Given the description of an element on the screen output the (x, y) to click on. 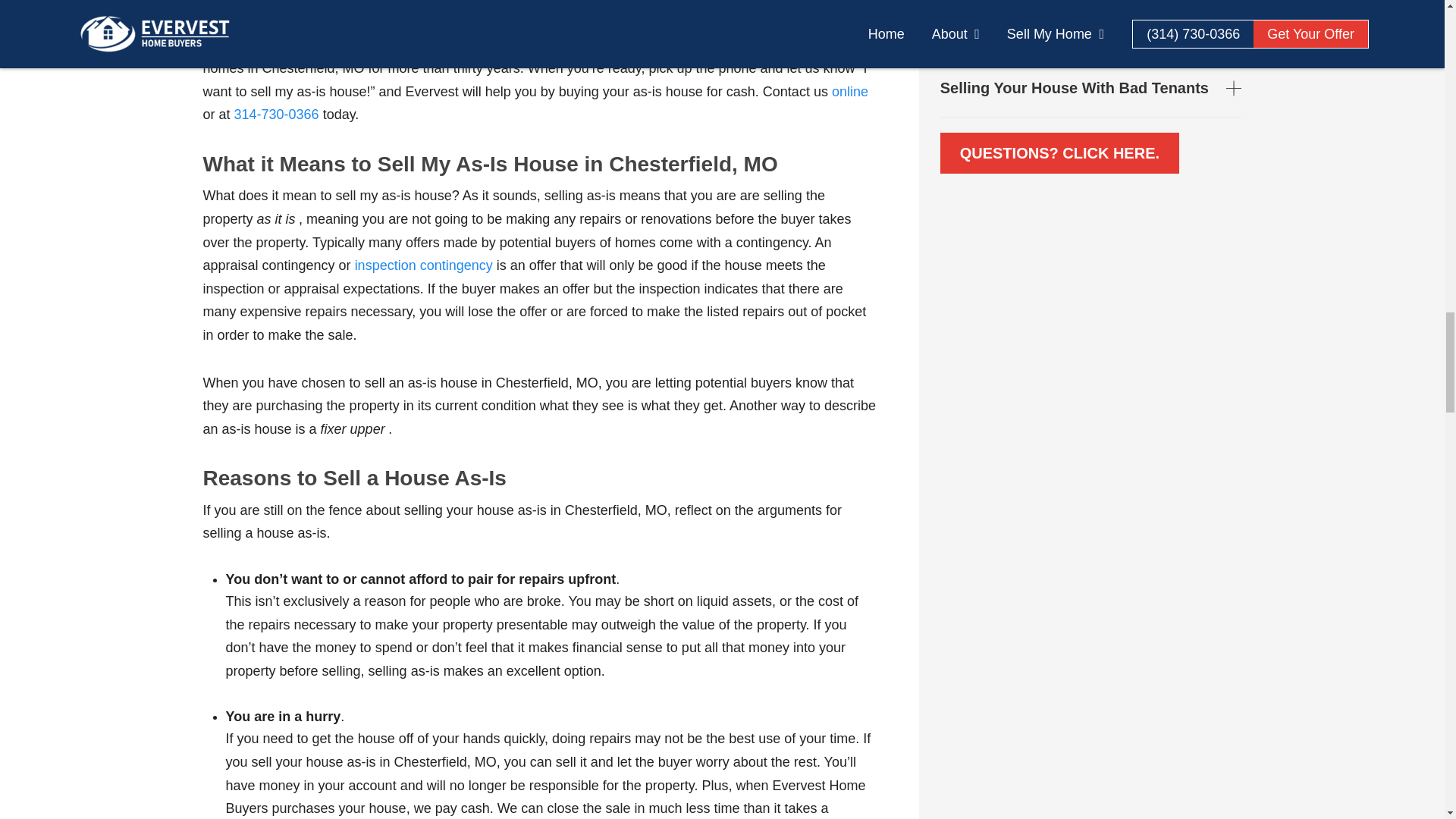
Homelight - What Does Contingent Mean in Real Estate? (424, 264)
